Given the description of an element on the screen output the (x, y) to click on. 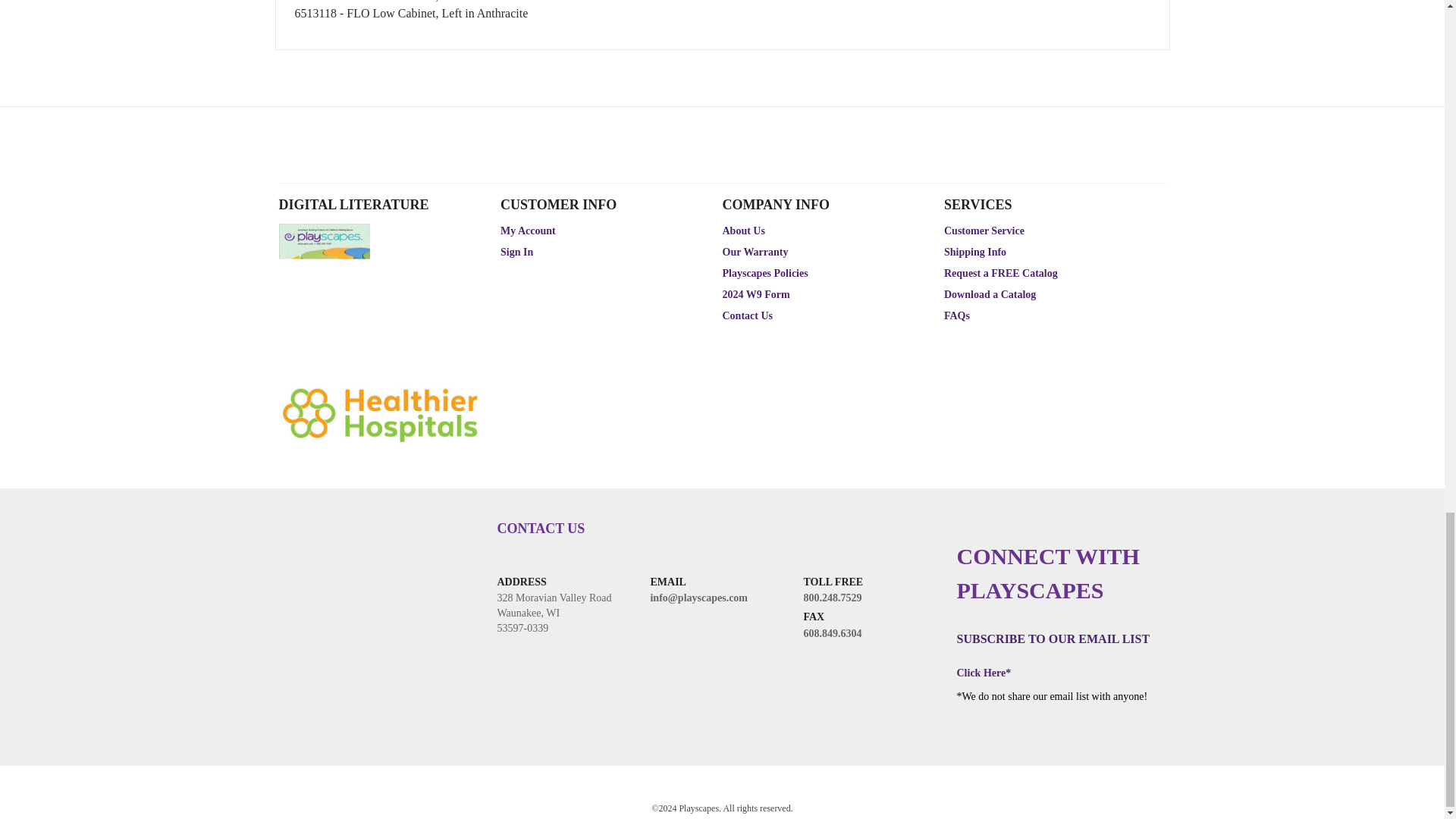
Open 2024 Playscapes Catalog (324, 365)
Subscribe to our email list (1053, 638)
2022 Playscapes W-9 (755, 294)
